Given the description of an element on the screen output the (x, y) to click on. 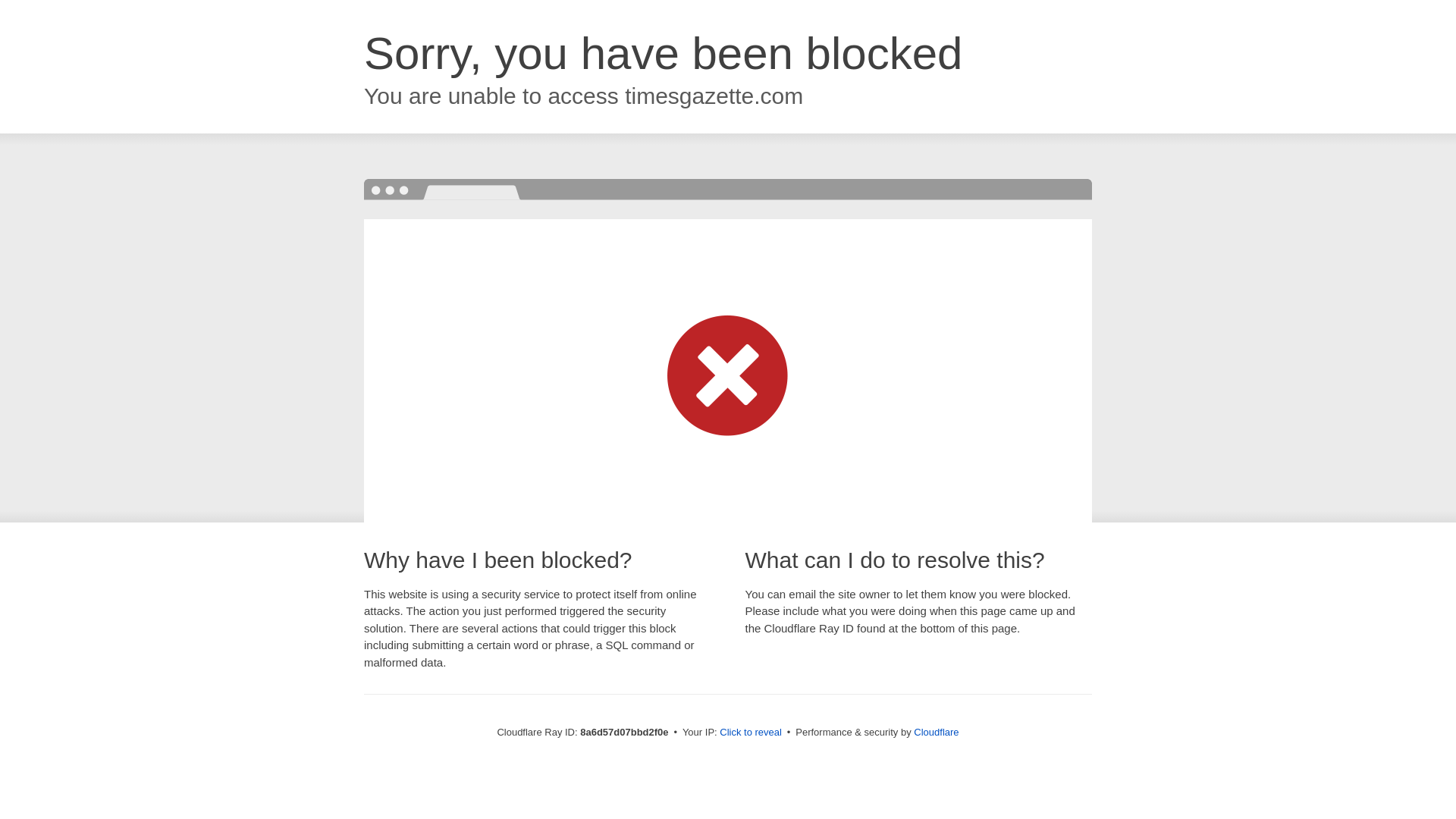
Cloudflare (936, 731)
Click to reveal (750, 732)
